Given the description of an element on the screen output the (x, y) to click on. 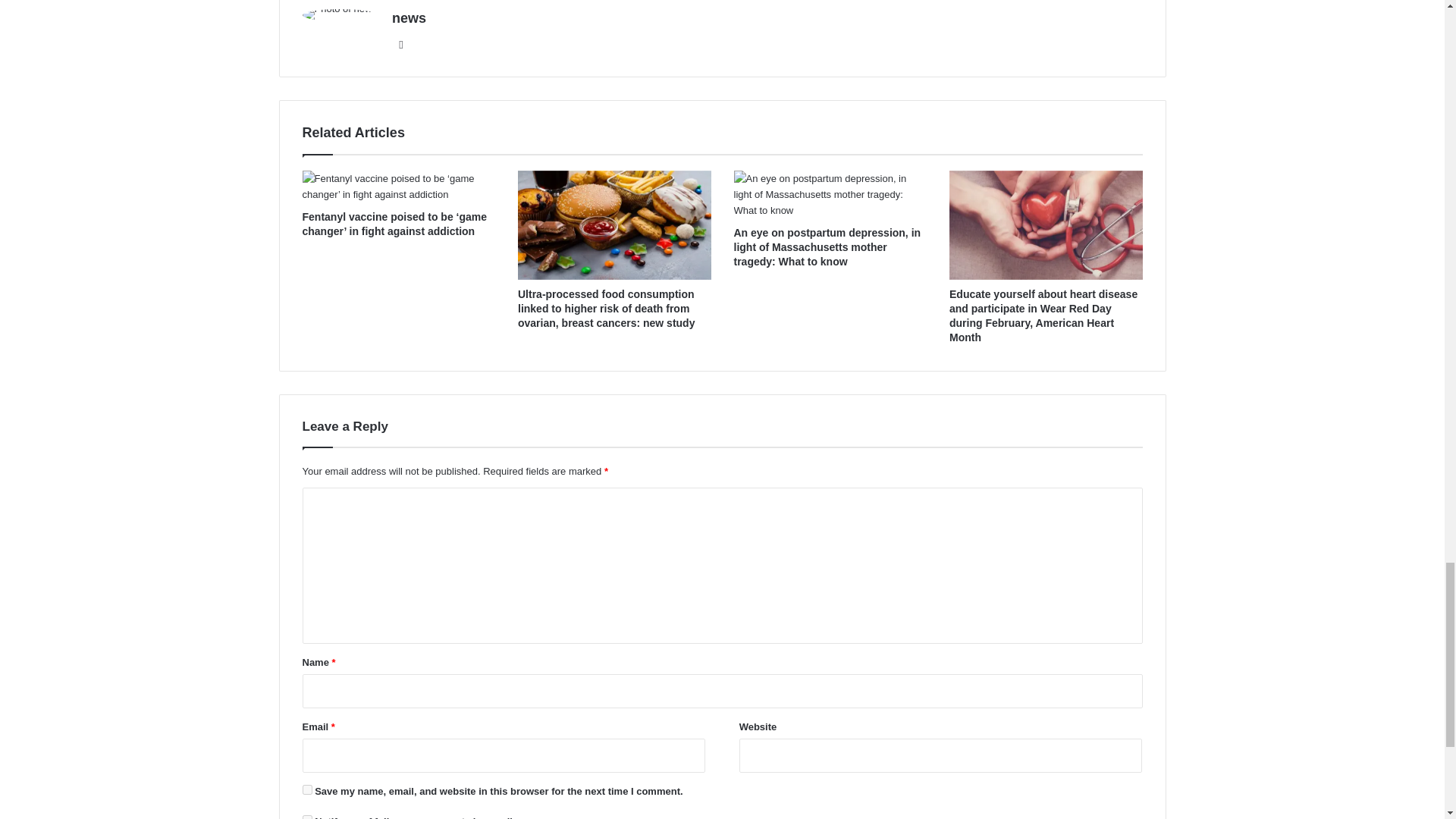
subscribe (306, 816)
yes (306, 789)
